Given the description of an element on the screen output the (x, y) to click on. 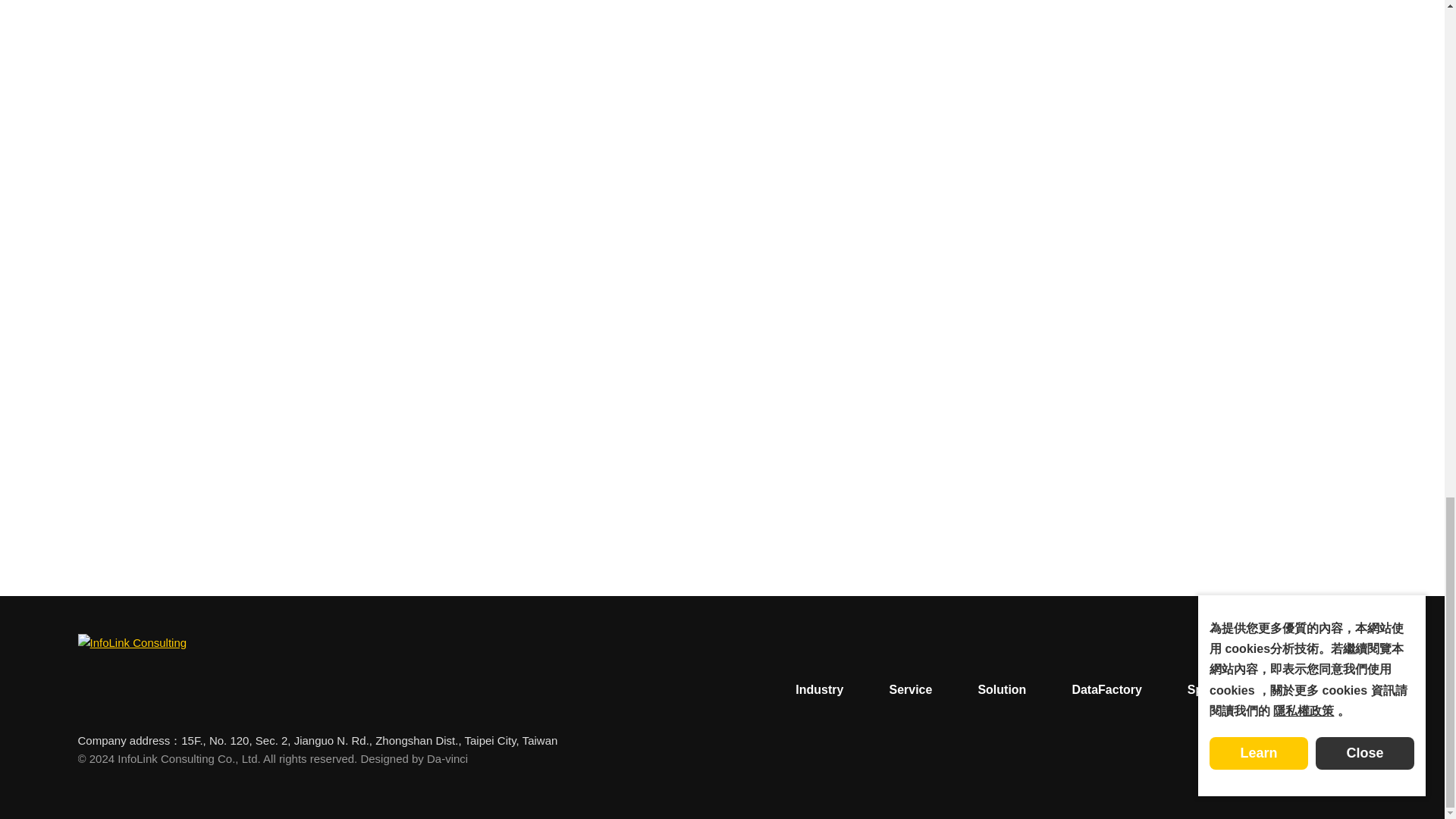
wechat (1285, 759)
twitter (1250, 759)
LinkedIn (1217, 759)
